Given the description of an element on the screen output the (x, y) to click on. 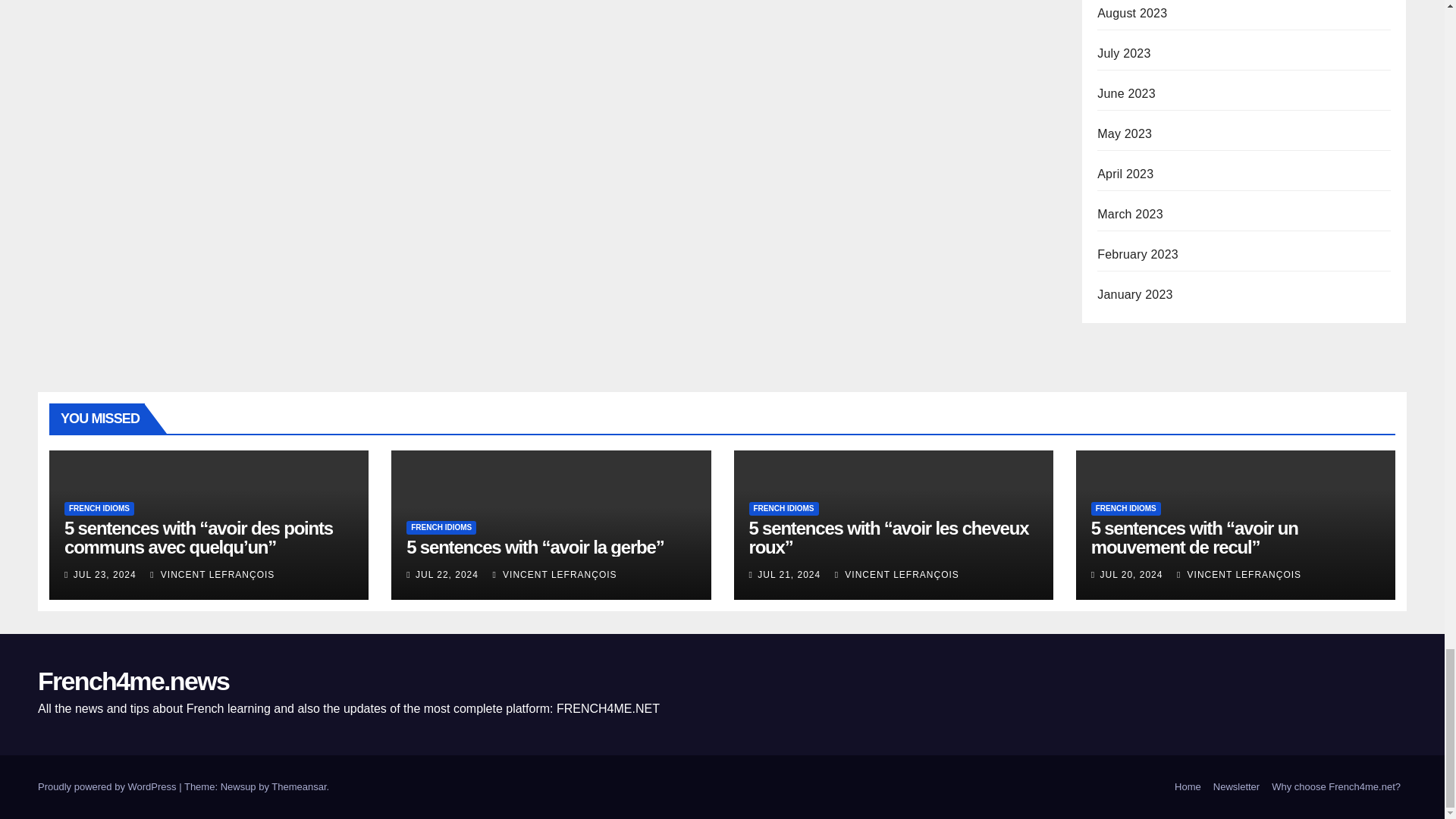
Home (1188, 786)
